Given the description of an element on the screen output the (x, y) to click on. 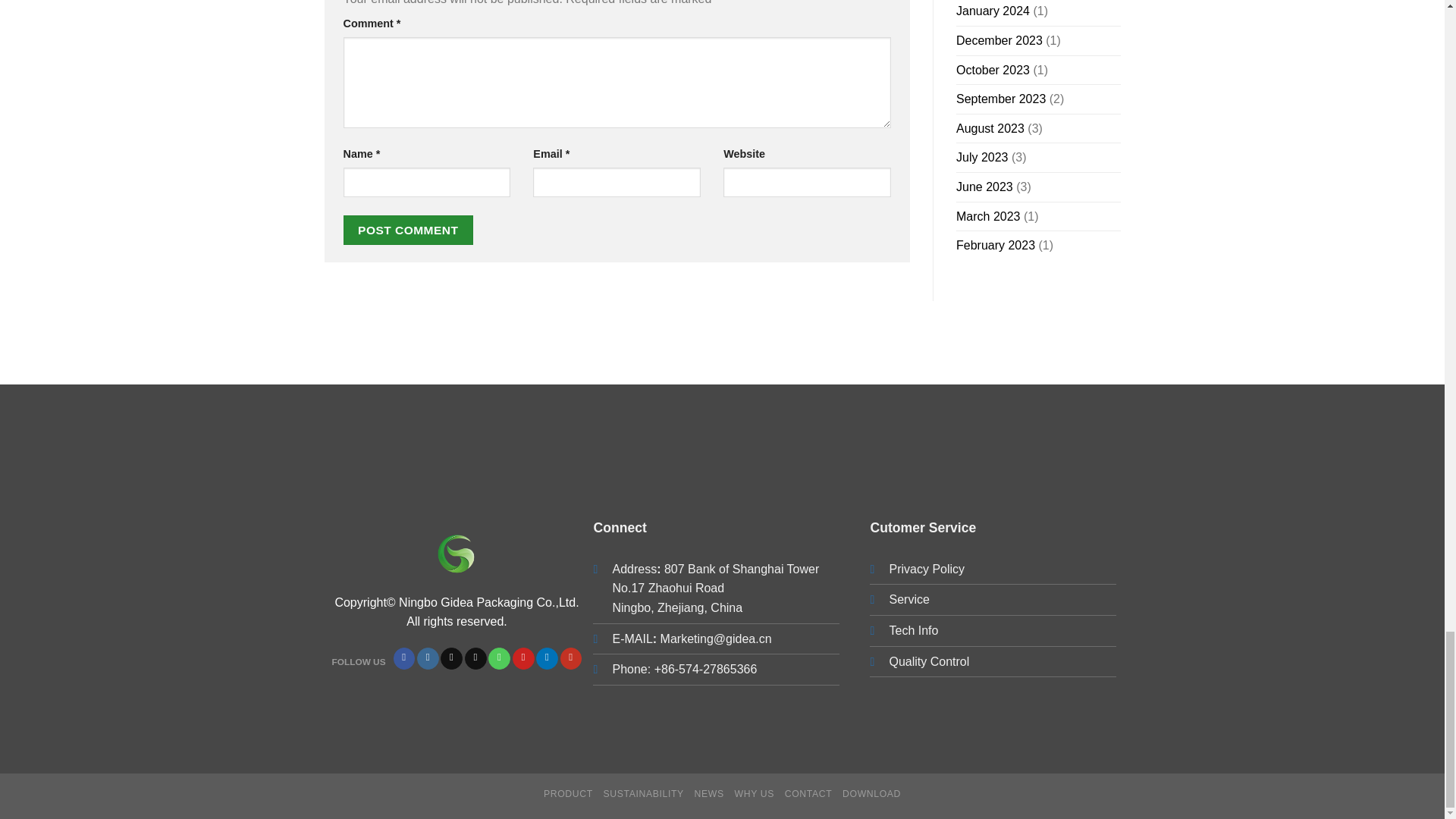
Post Comment (407, 229)
